Given the description of an element on the screen output the (x, y) to click on. 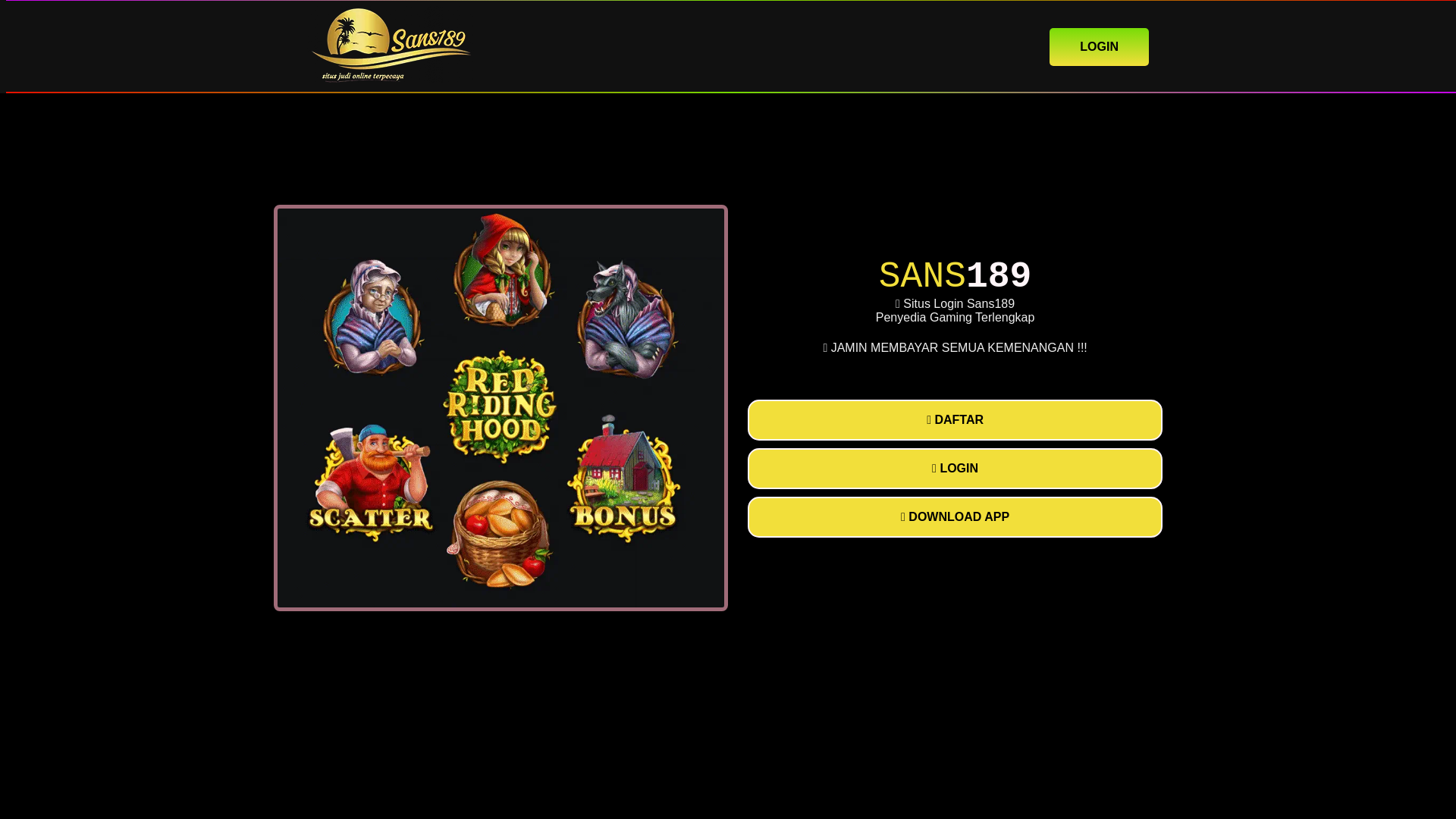
DOWNLOAD APP (954, 516)
DAFTAR (954, 419)
LOGIN (954, 467)
LOGIN (1098, 46)
